Given the description of an element on the screen output the (x, y) to click on. 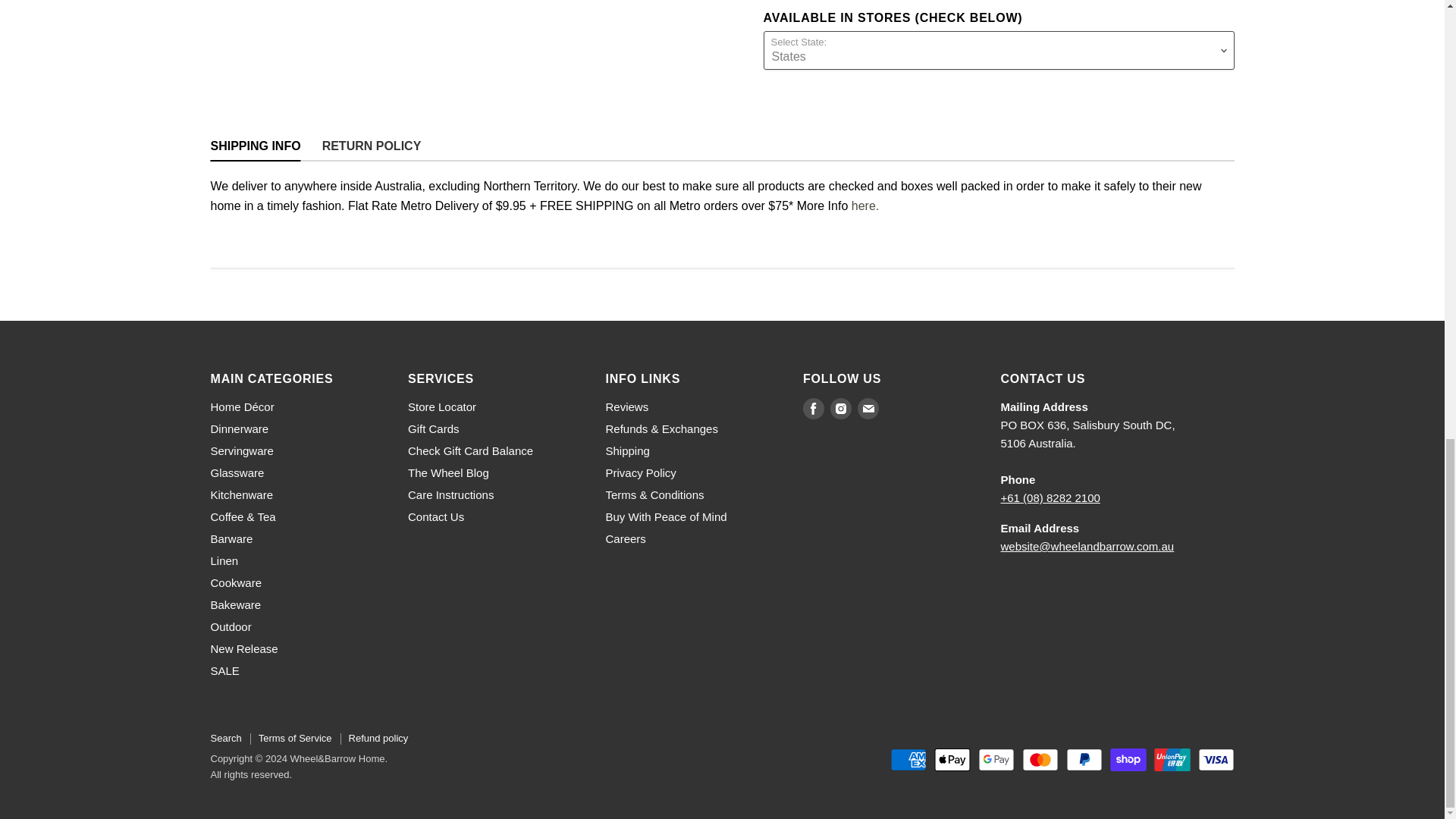
tel:0882822100 (1050, 497)
Instagram (840, 408)
Email (868, 408)
Facebook (813, 408)
